Given the description of an element on the screen output the (x, y) to click on. 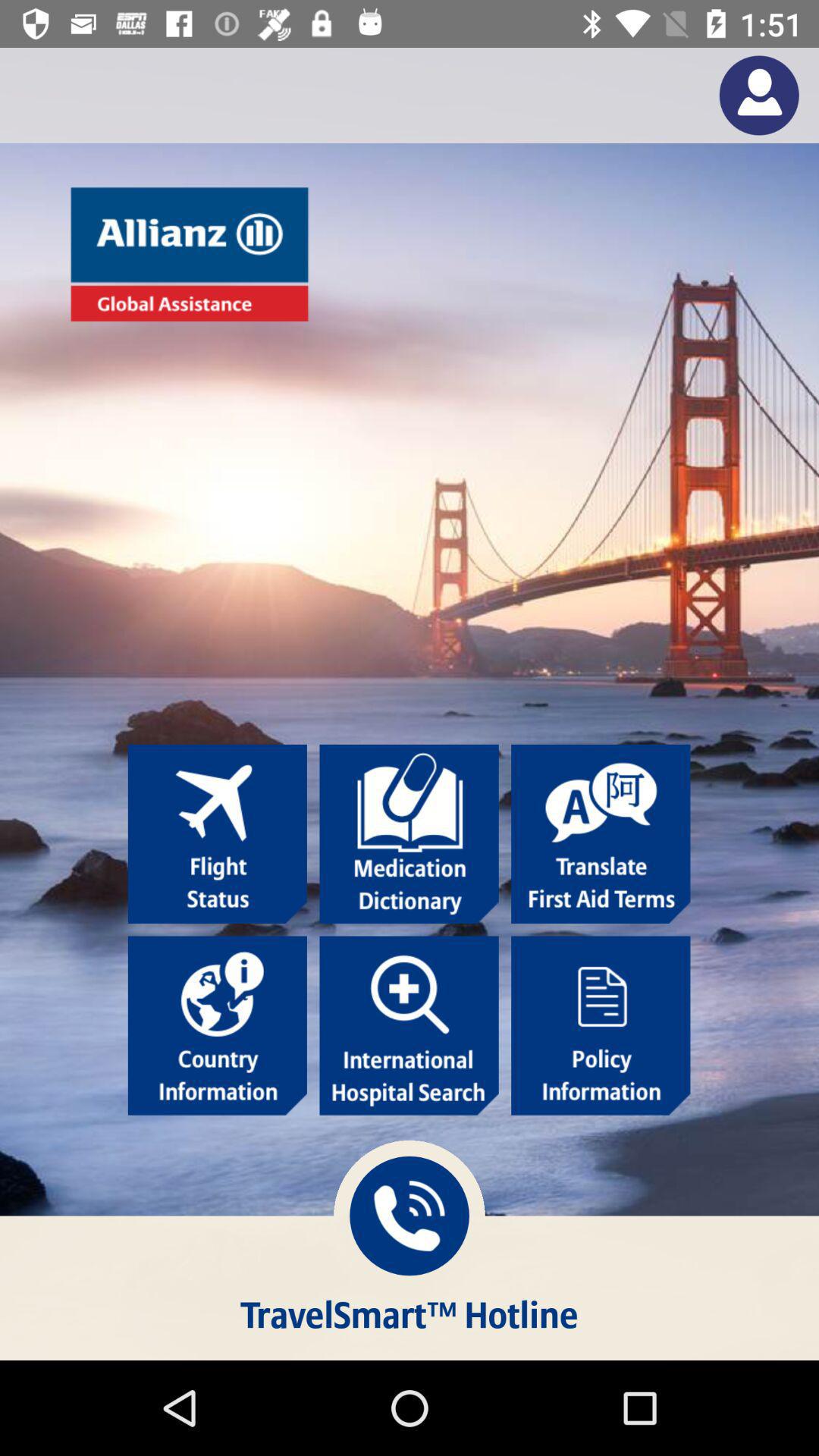
open flight status (217, 833)
